Given the description of an element on the screen output the (x, y) to click on. 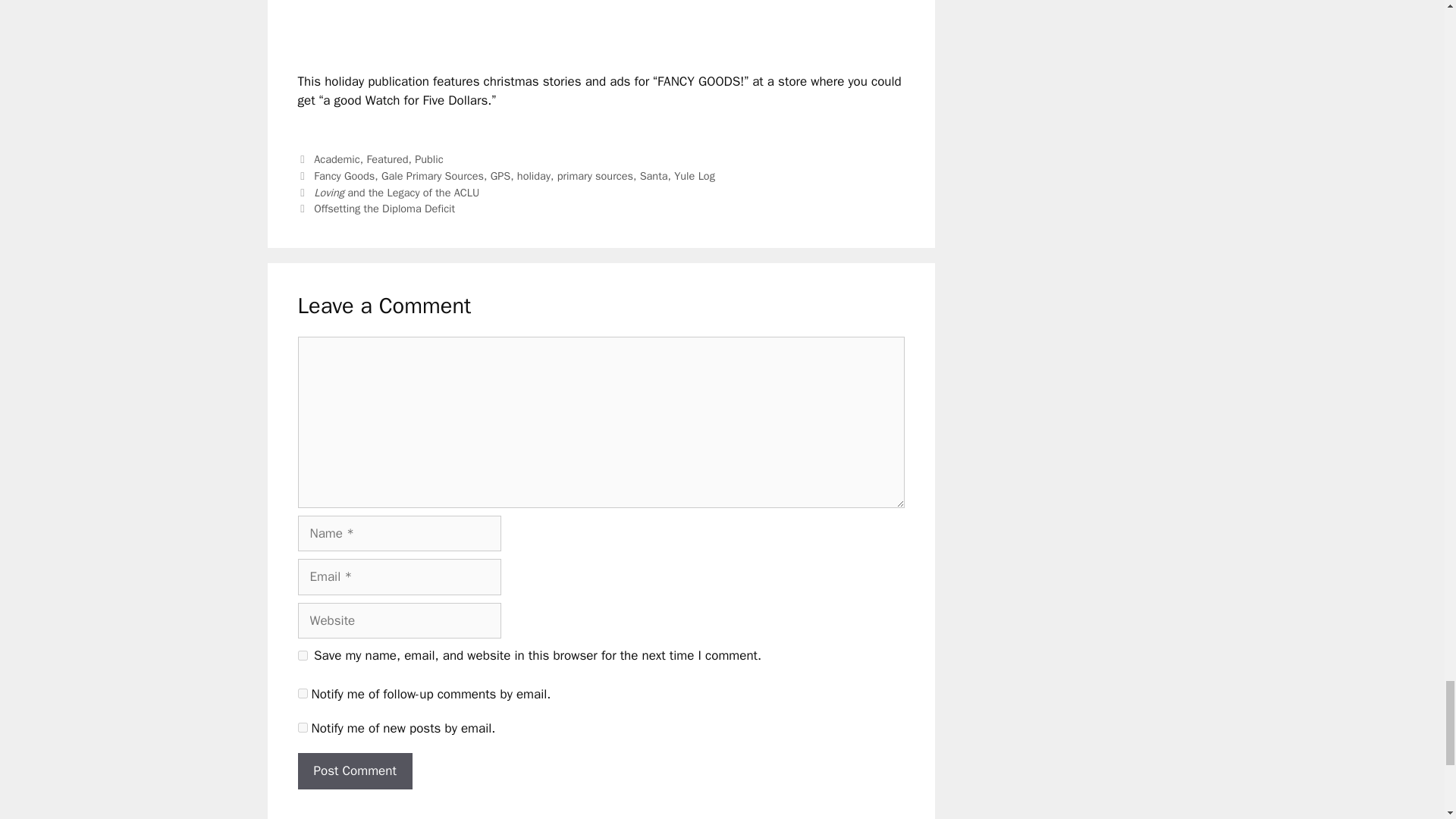
Gale Primary Sources (432, 175)
Fancy Goods (344, 175)
Academic (336, 159)
holiday (533, 175)
subscribe (302, 693)
Public (428, 159)
subscribe (302, 727)
Post Comment (354, 770)
Featured (386, 159)
GPS (500, 175)
yes (302, 655)
